Given the description of an element on the screen output the (x, y) to click on. 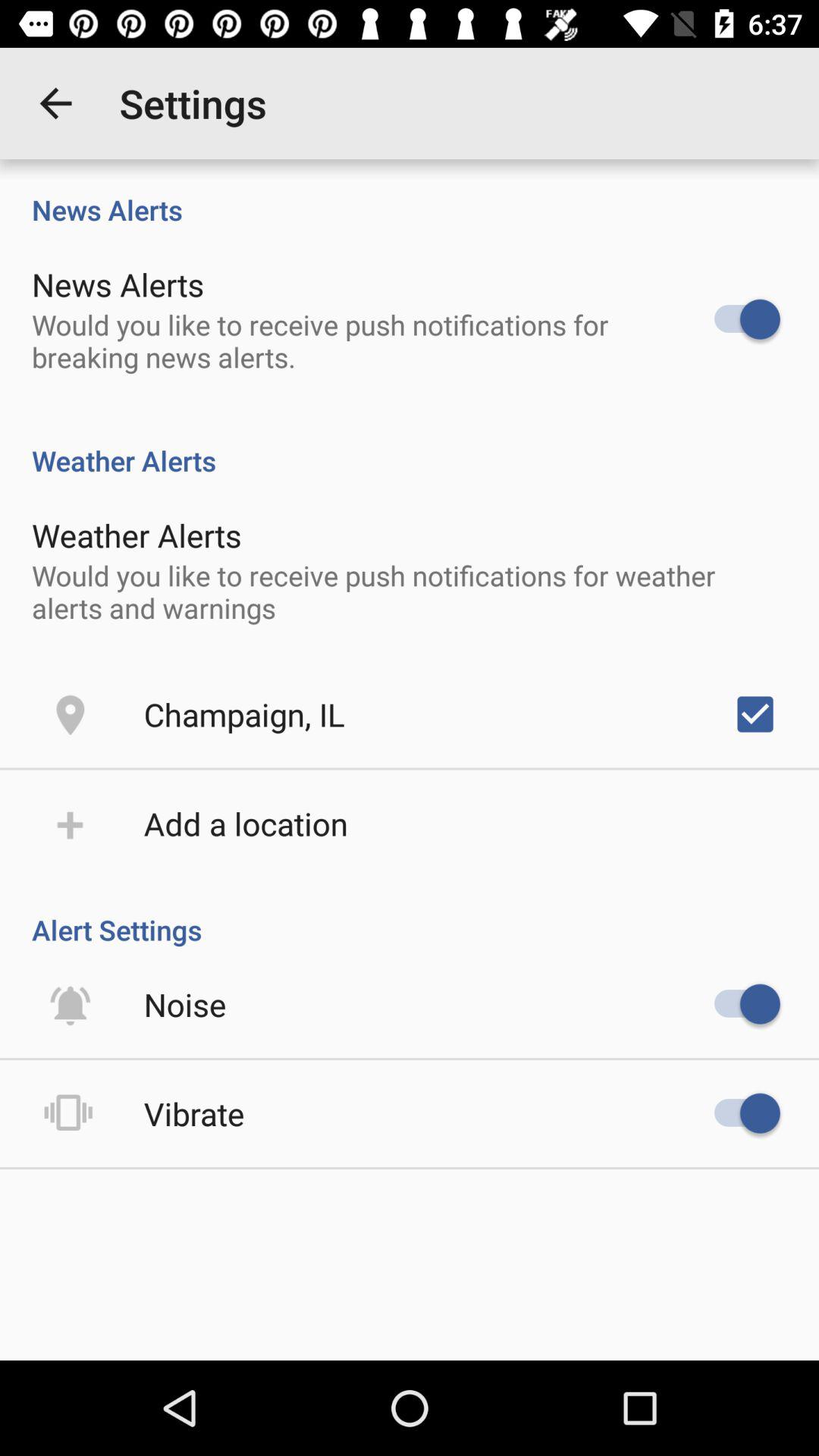
launch the item next to the champaign, il (755, 714)
